Given the description of an element on the screen output the (x, y) to click on. 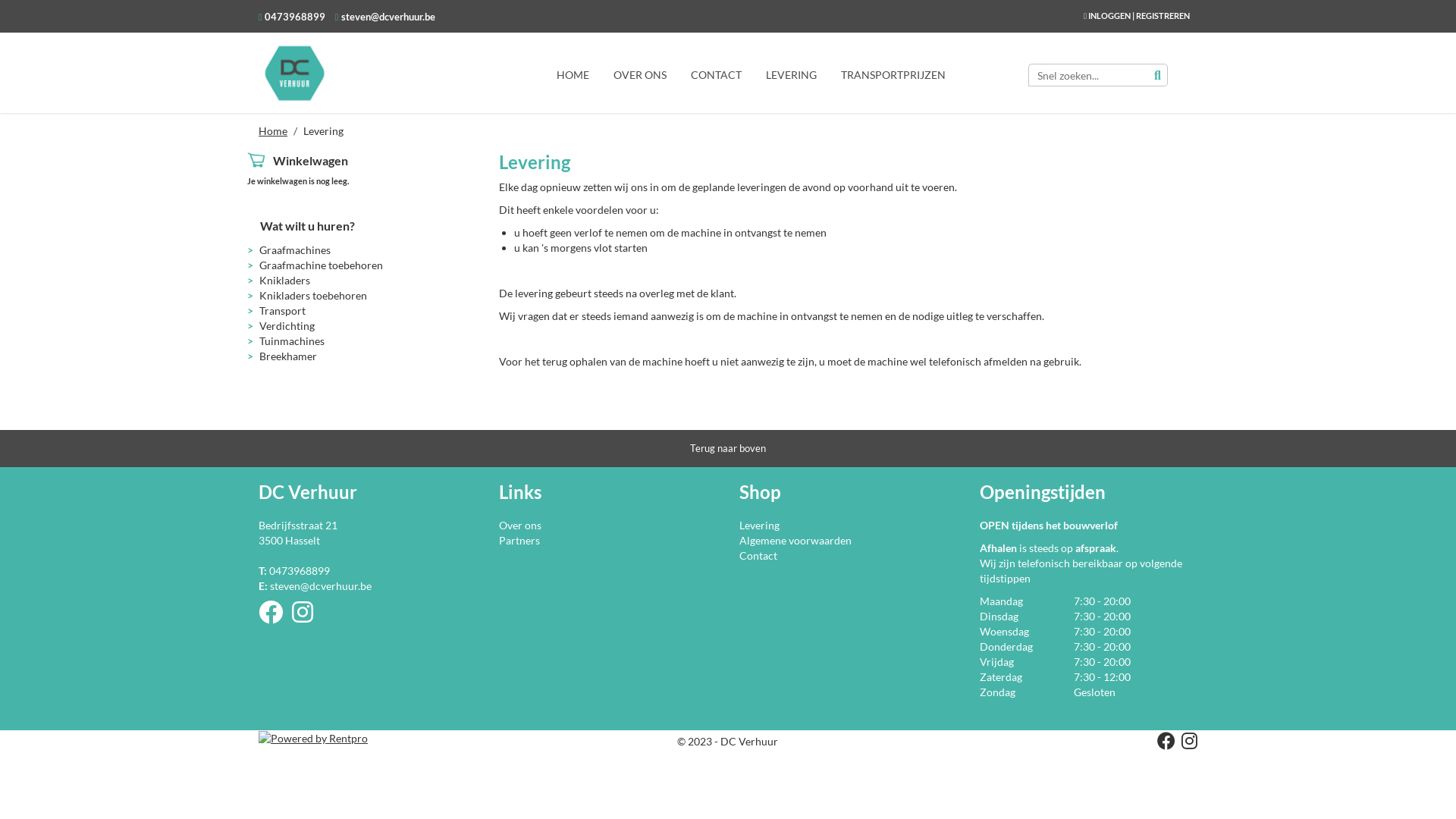
Wat wilt u huren? Element type: text (307, 225)
Knikladers toebehoren Element type: text (313, 294)
E: steven@dcverhuur.be Element type: text (314, 585)
T: 0473968899 Element type: text (293, 570)
Home Element type: text (272, 130)
Knikladers Element type: text (284, 279)
Partners Element type: text (518, 539)
Facebook Element type: hover (274, 616)
CONTACT Element type: text (716, 73)
LEVERING Element type: text (791, 73)
OVER ONS Element type: text (639, 73)
Instagram Element type: hover (306, 616)
HOME Element type: text (572, 73)
Contact Element type: text (758, 555)
Verdichting Element type: text (286, 325)
TRANSPORTPRIJZEN Element type: text (893, 73)
Algemene voorwaarden Element type: text (795, 539)
INLOGGEN Element type: text (1109, 15)
Winkelwagen Element type: text (310, 160)
Instagram Element type: hover (1186, 743)
Breekhamer Element type: text (287, 355)
steven@dcverhuur.be Element type: text (386, 16)
Over ons Element type: text (519, 524)
Facebook Element type: hover (1163, 743)
Graafmachine toebehoren Element type: text (320, 264)
REGISTREREN Element type: text (1162, 15)
Tuinmachines Element type: text (291, 340)
Transport Element type: text (282, 310)
Levering Element type: text (759, 524)
0473968899 Element type: text (293, 16)
Graafmachines Element type: text (294, 249)
